Given the description of an element on the screen output the (x, y) to click on. 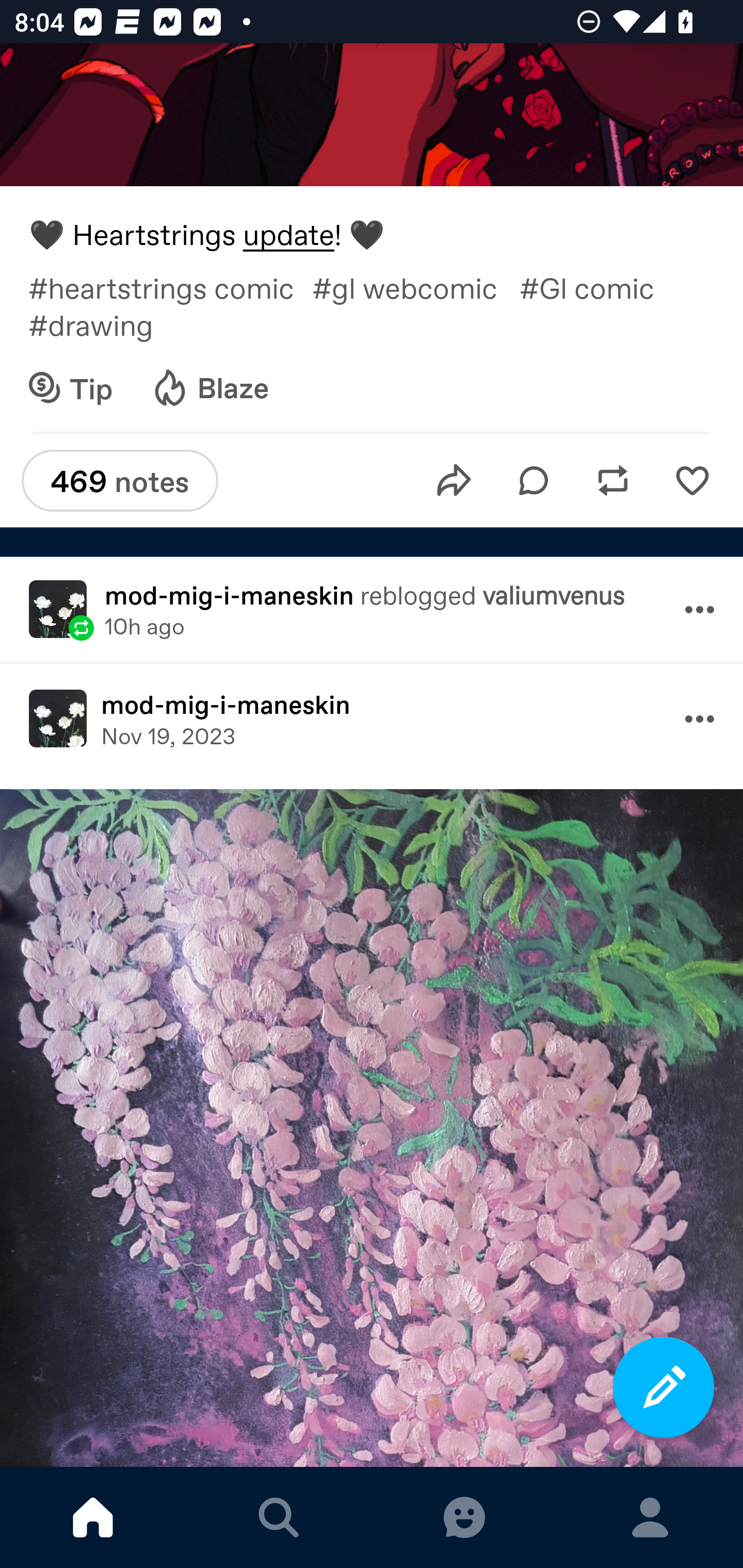
#heartstrings comic (170, 286)
#gl webcomic (415, 286)
#Gl comic (597, 286)
#drawing (105, 324)
Tip (71, 387)
Blaze Blaze Blaze (209, 387)
Share post to message (454, 481)
Reply (533, 481)
Reblog (612, 481)
Like (691, 481)
469 notes (119, 480)
Compose a new post (663, 1387)
DASHBOARD (92, 1517)
EXPLORE (278, 1517)
MESSAGES (464, 1517)
ACCOUNT (650, 1517)
